Given the description of an element on the screen output the (x, y) to click on. 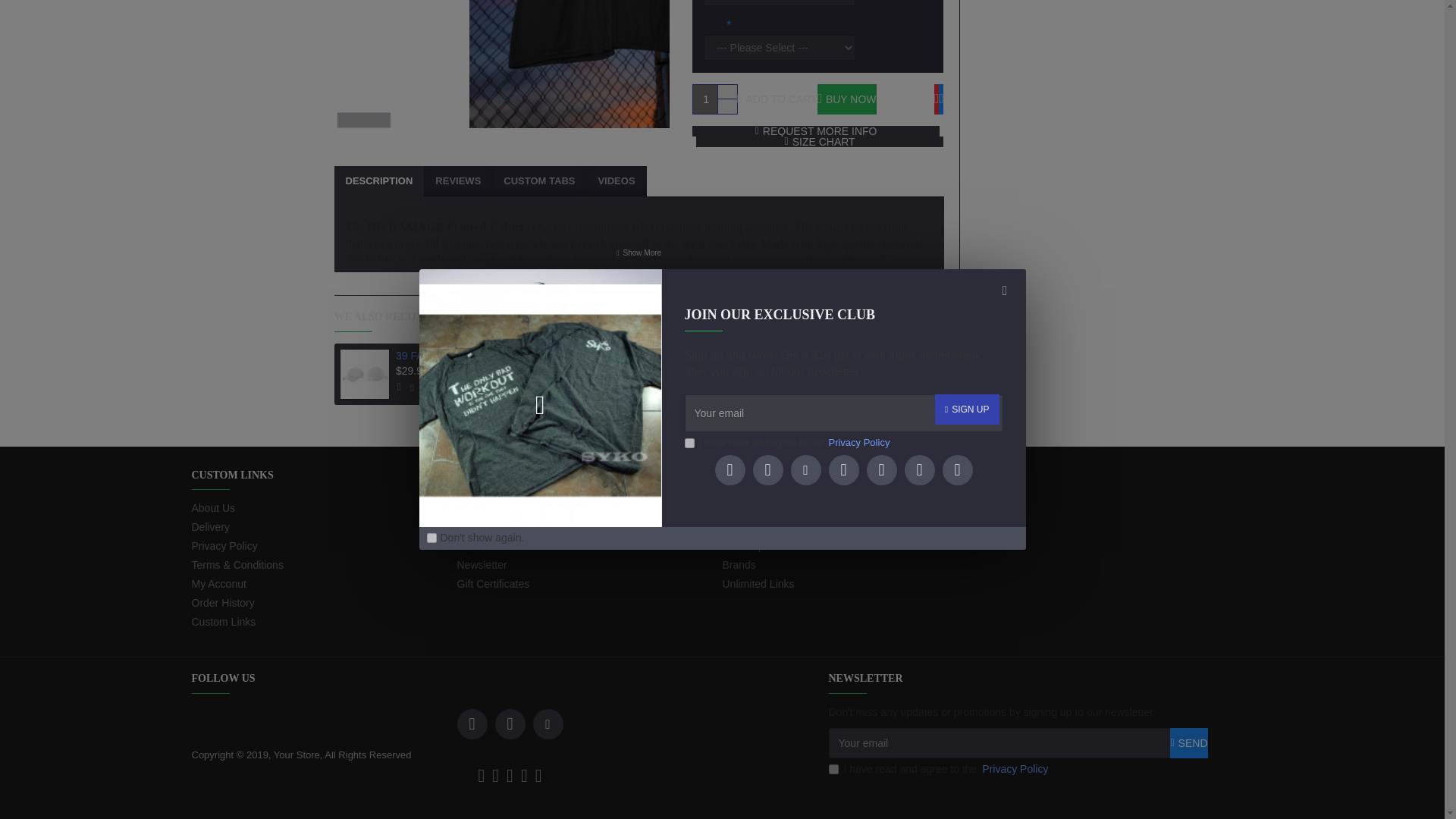
1 (714, 99)
on (430, 148)
Privacy Policy (858, 52)
SIGN UP (966, 19)
Ace Tee (584, 373)
1 (689, 53)
Damage Tee (605, 63)
39 FACTORY HAT (364, 373)
